Given the description of an element on the screen output the (x, y) to click on. 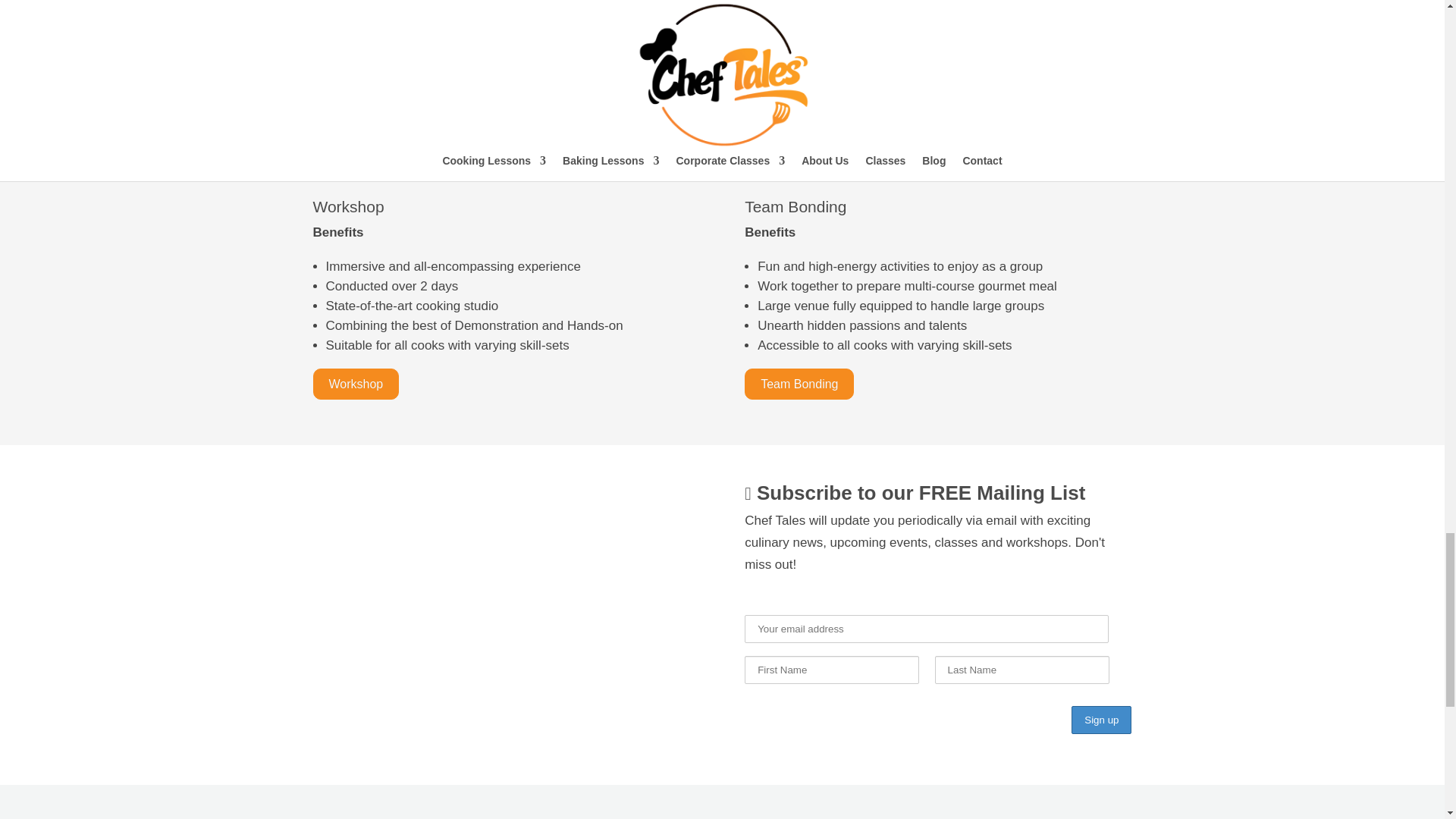
Sign up (1101, 719)
